Given the description of an element on the screen output the (x, y) to click on. 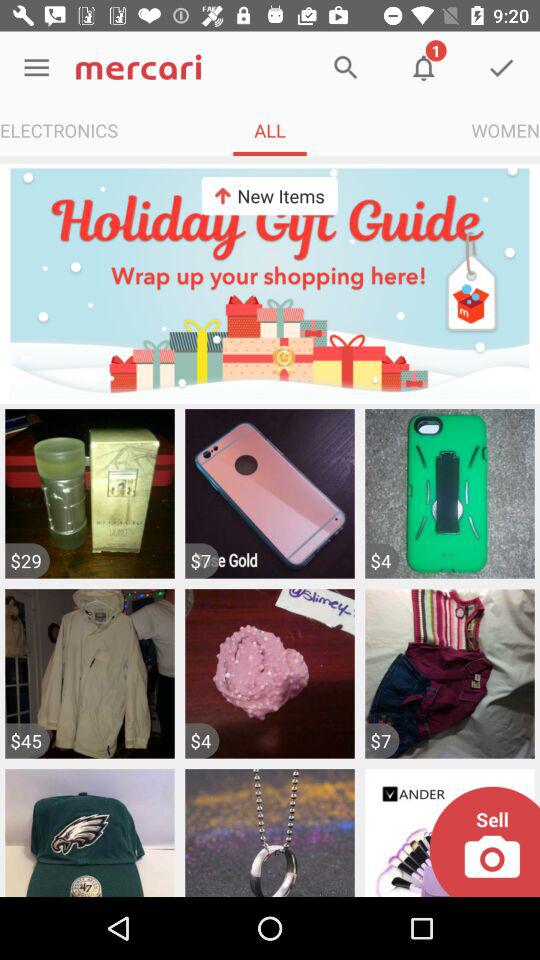
take picture (484, 841)
